Given the description of an element on the screen output the (x, y) to click on. 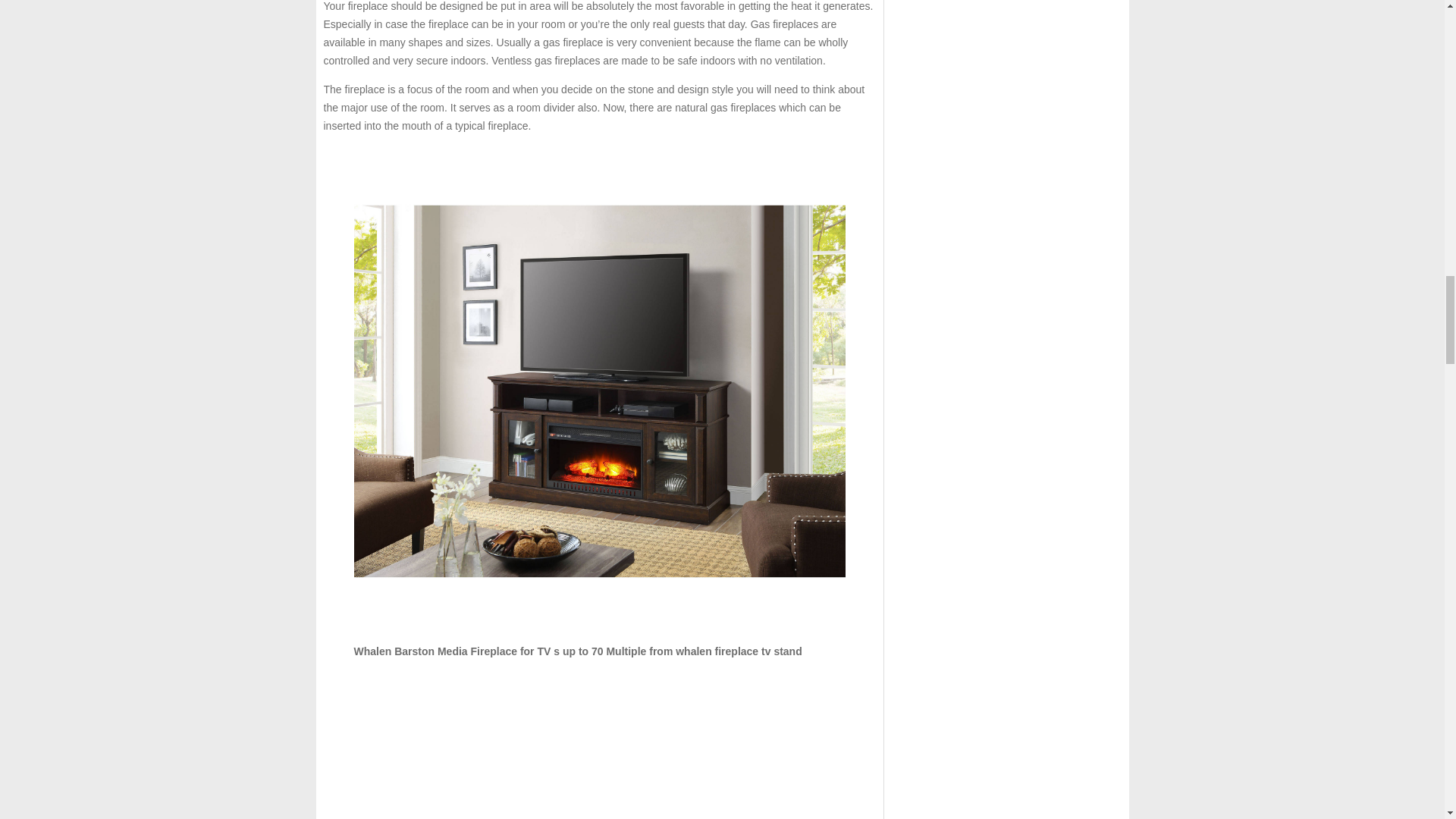
Advertisement (599, 744)
